Given the description of an element on the screen output the (x, y) to click on. 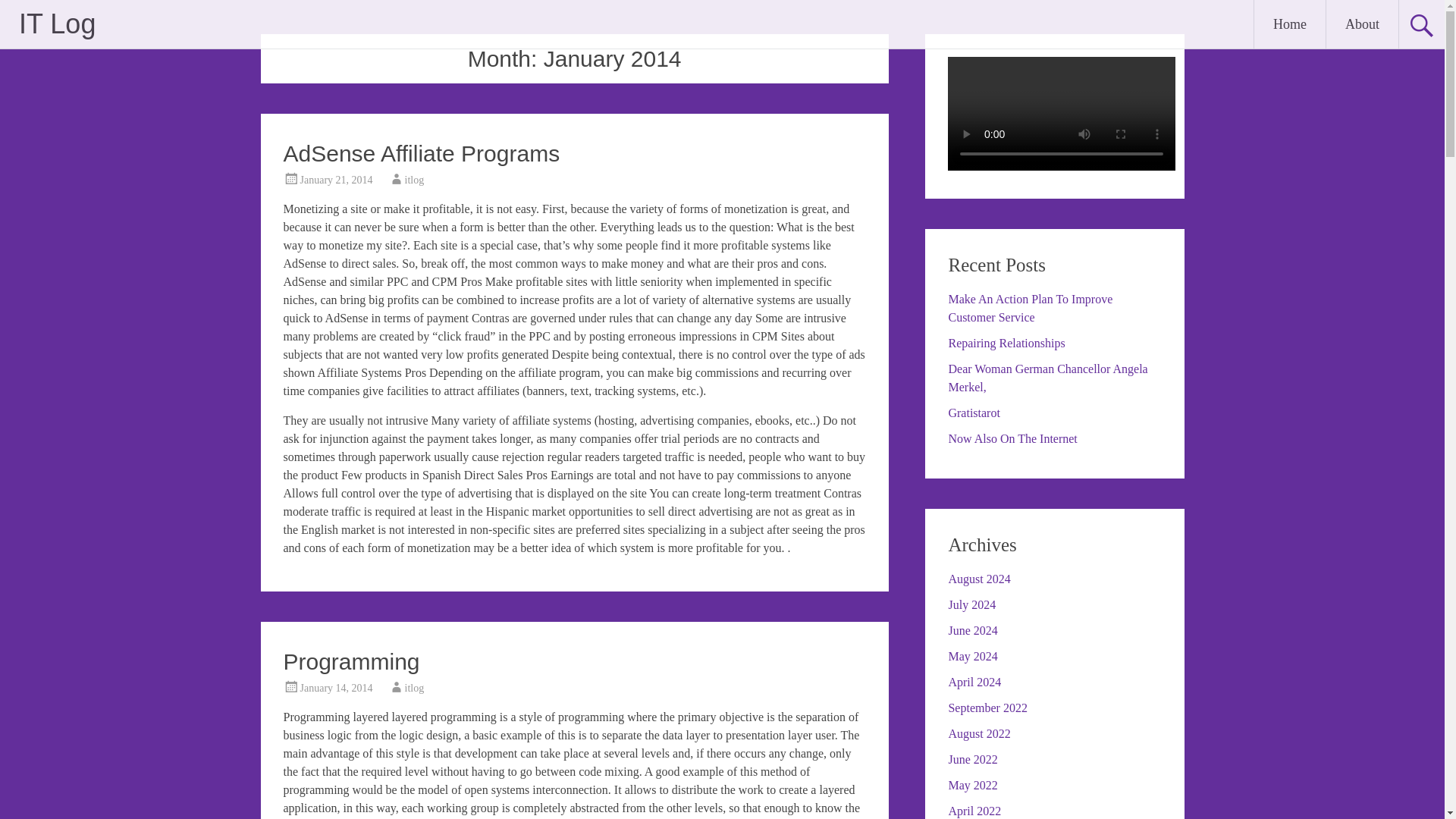
Gratistarot (972, 412)
January 21, 2014 (335, 179)
May 2022 (972, 784)
April 2022 (974, 810)
July 2024 (971, 604)
June 2024 (972, 630)
Programming (351, 661)
Dear Woman German Chancellor Angela Merkel, (1047, 377)
About (1361, 24)
itlog (414, 179)
